Given the description of an element on the screen output the (x, y) to click on. 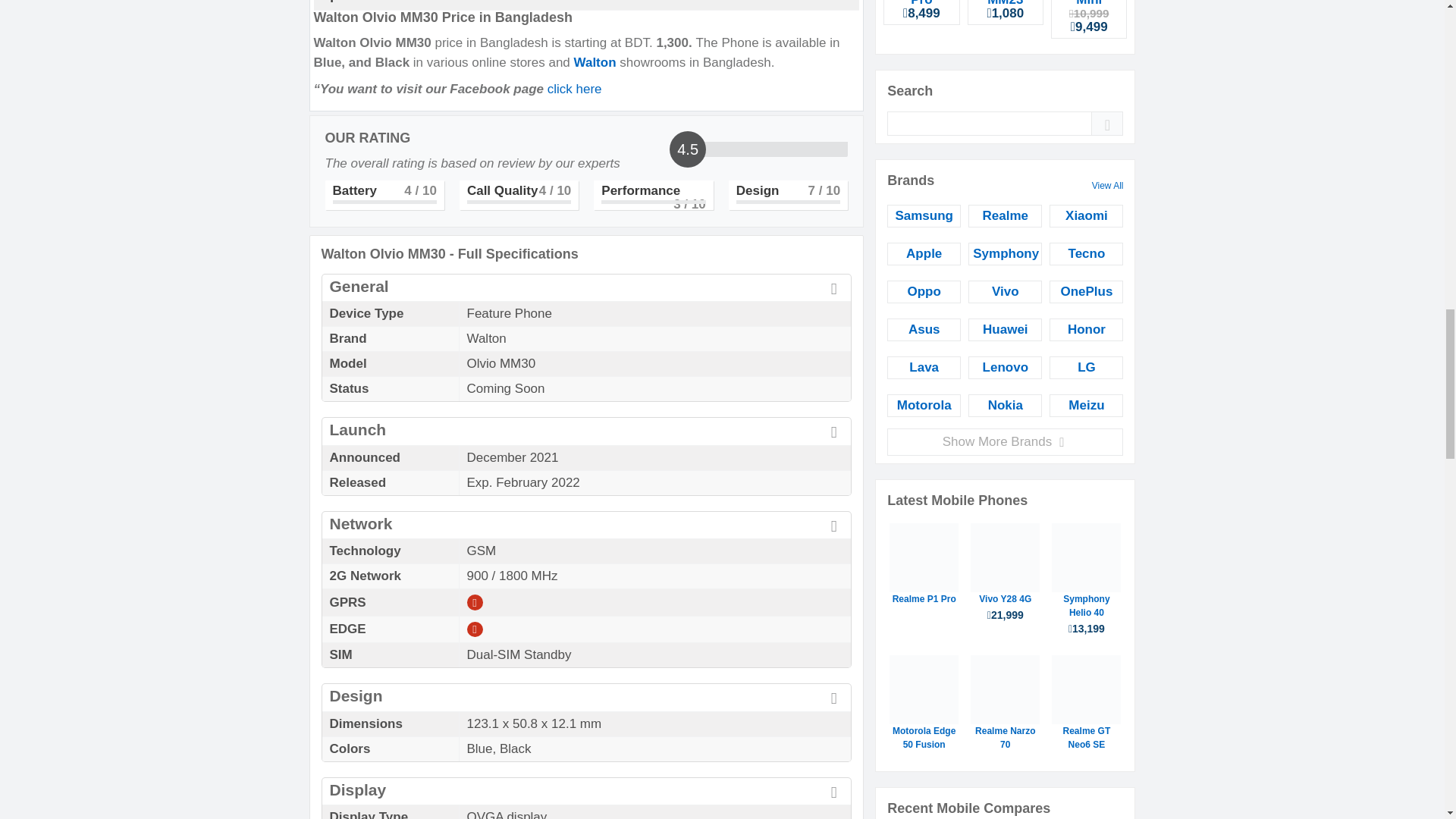
Walton  (596, 62)
click here (574, 88)
